Given the description of an element on the screen output the (x, y) to click on. 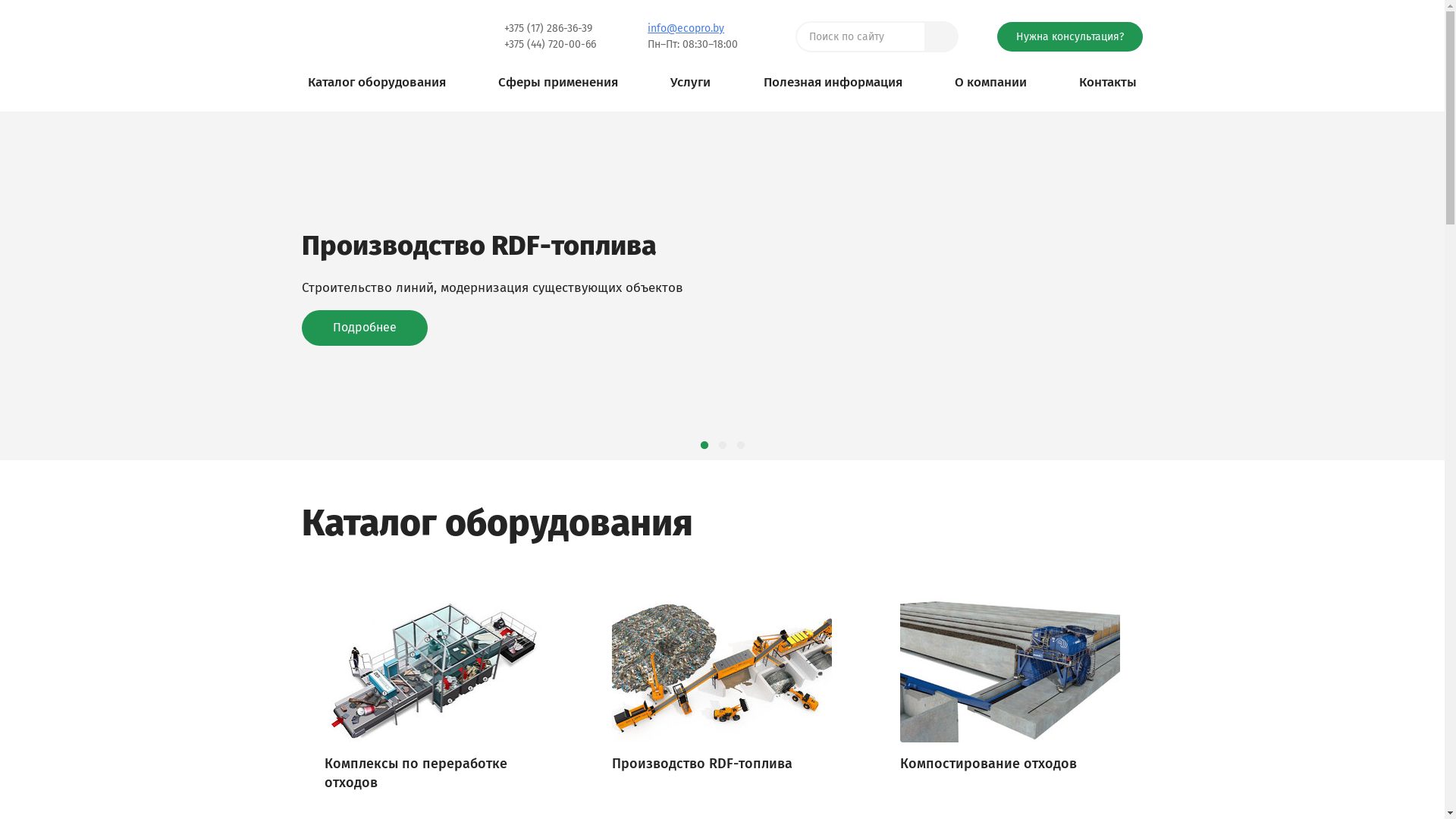
2 Element type: text (721, 445)
info@ecopro.by Element type: text (685, 27)
1 Element type: text (703, 445)
3 Element type: text (739, 445)
